Given the description of an element on the screen output the (x, y) to click on. 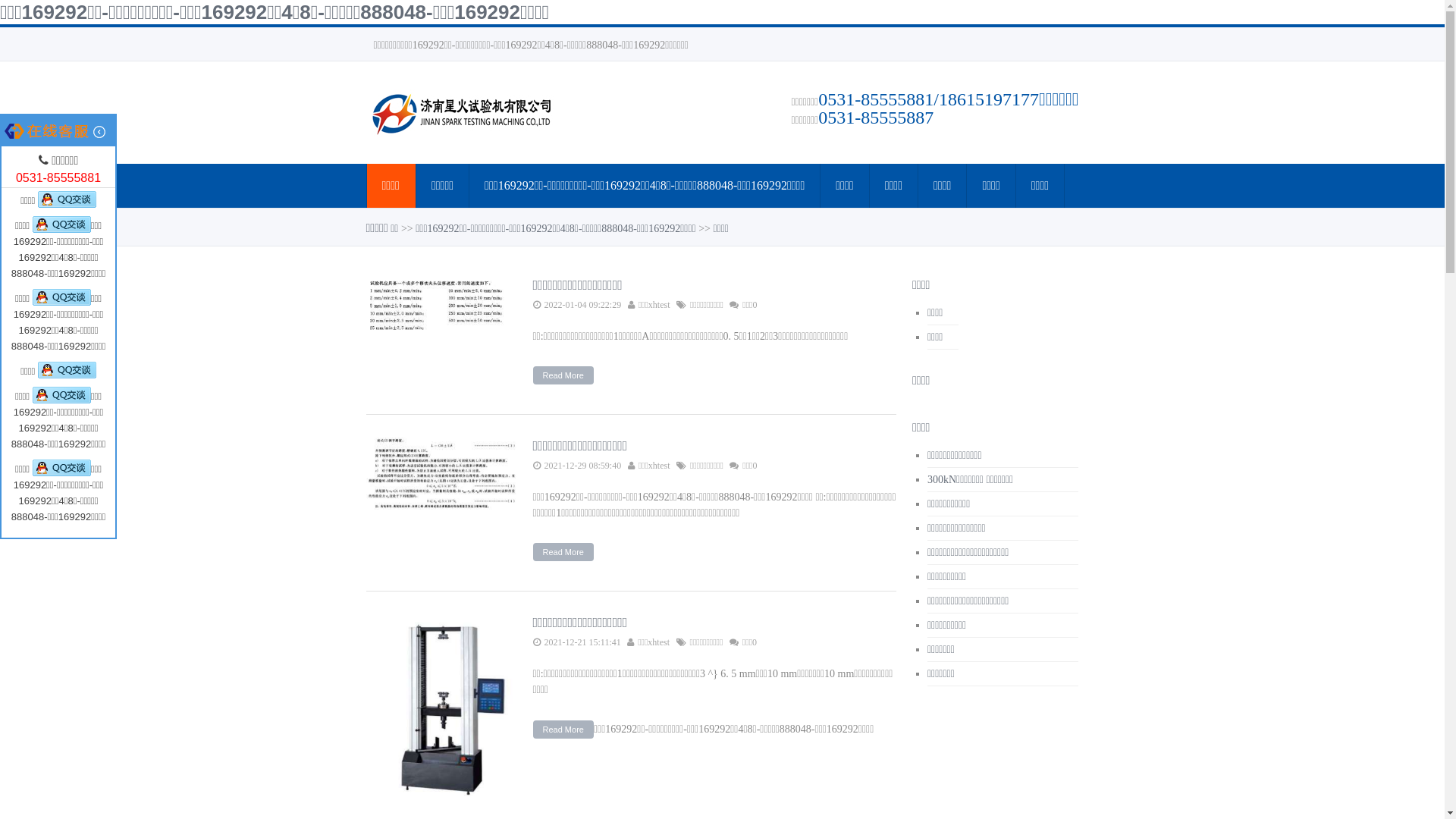
Read More Element type: text (562, 551)
Read More Element type: text (562, 729)
Read More Element type: text (562, 375)
